Given the description of an element on the screen output the (x, y) to click on. 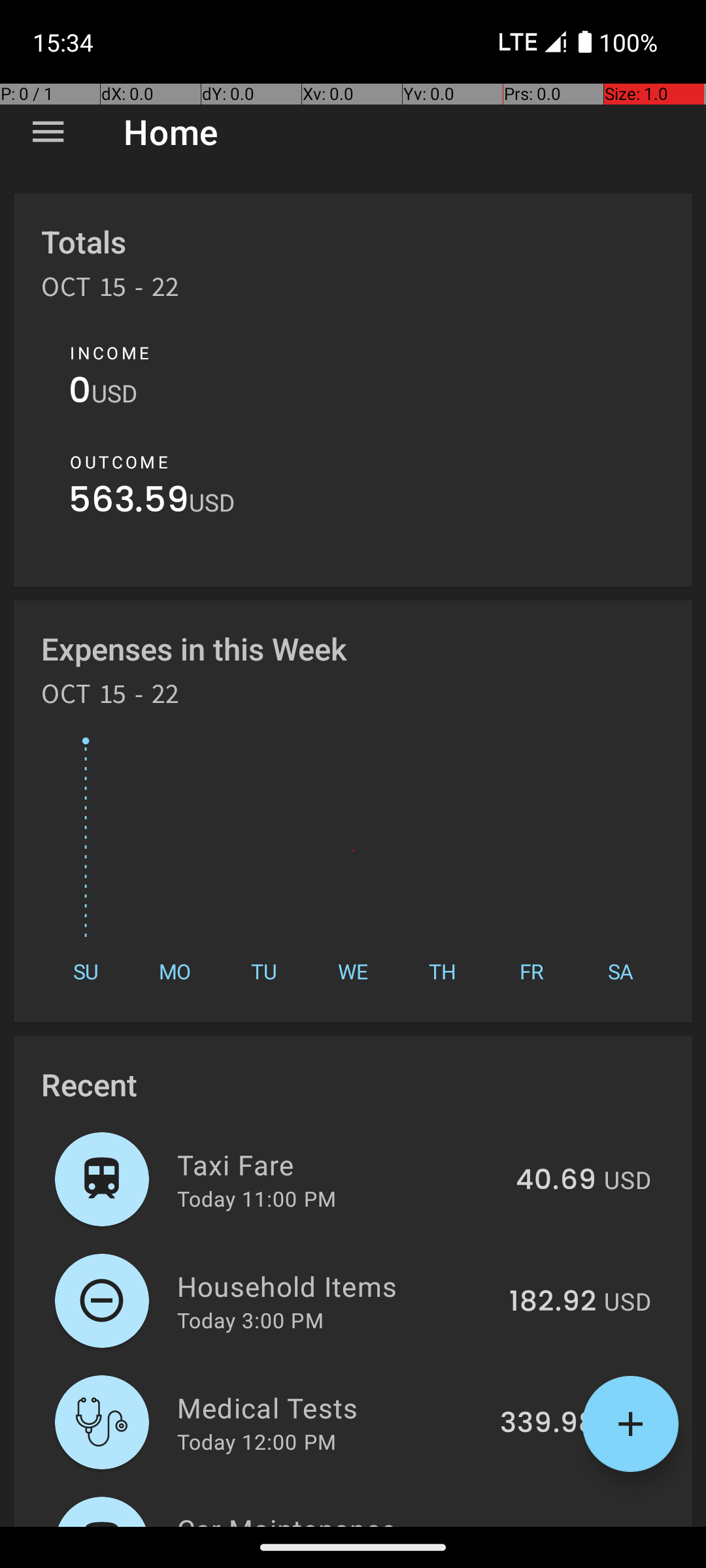
563.59 Element type: android.widget.TextView (128, 502)
Taxi Fare Element type: android.widget.TextView (338, 1164)
40.69 Element type: android.widget.TextView (555, 1180)
Household Items Element type: android.widget.TextView (335, 1285)
182.92 Element type: android.widget.TextView (552, 1301)
Medical Tests Element type: android.widget.TextView (330, 1407)
Today 12:00 PM Element type: android.widget.TextView (256, 1441)
339.98 Element type: android.widget.TextView (547, 1423)
Car Maintenance Element type: android.widget.TextView (335, 1518)
125.63 Element type: android.widget.TextView (551, 1524)
